Given the description of an element on the screen output the (x, y) to click on. 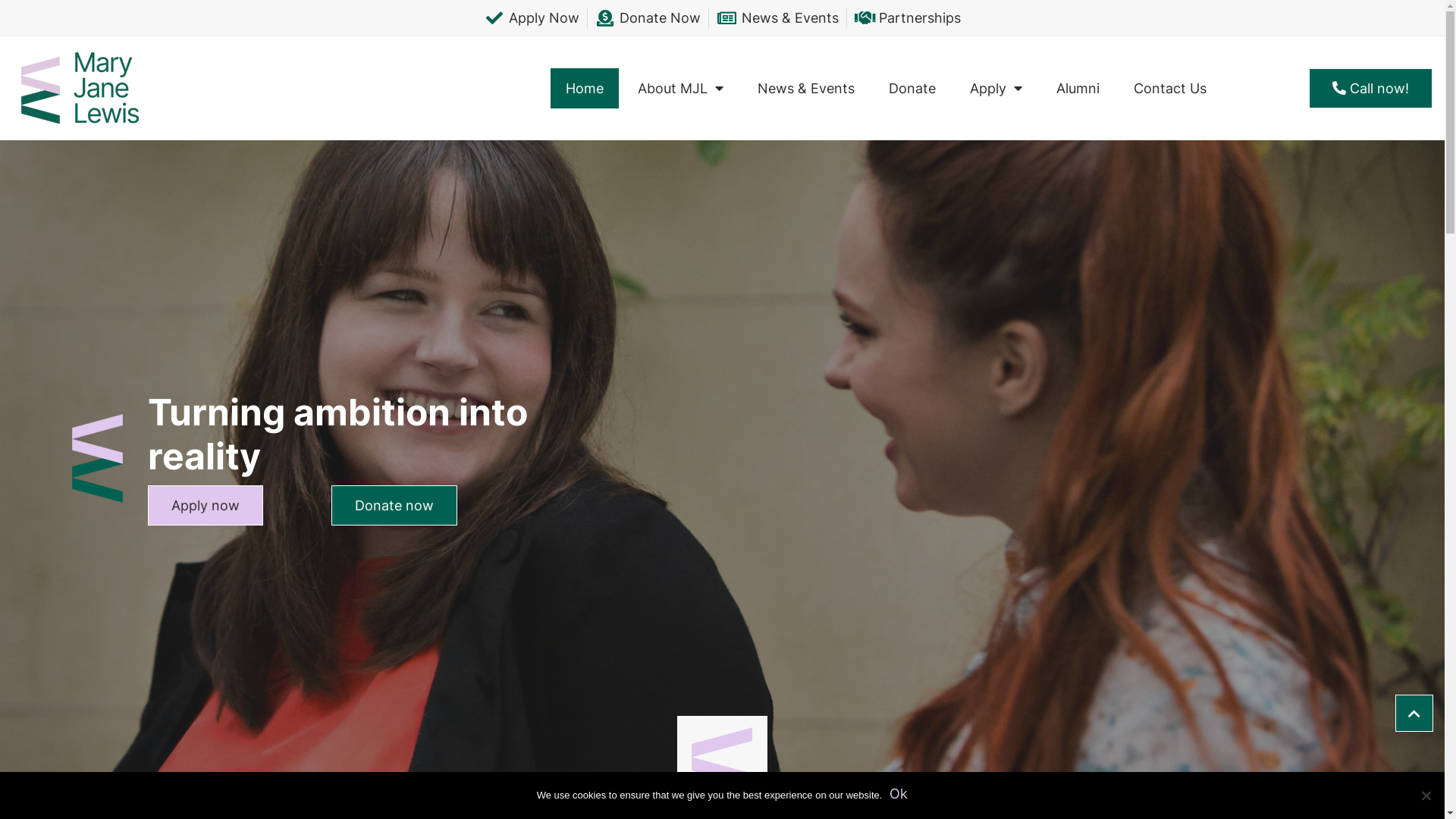
Ok Element type: text (898, 793)
Partnerships Element type: text (906, 17)
Donate now Element type: text (394, 505)
News & Events Element type: text (777, 17)
Contact Us Element type: text (1169, 88)
Donate Now Element type: text (647, 17)
Apply Element type: text (995, 88)
News & Events Element type: text (805, 88)
Apply Now Element type: text (531, 17)
Call now! Element type: text (1370, 88)
Home Element type: text (584, 88)
Apply now Element type: text (205, 505)
Alumni Element type: text (1077, 88)
About MJL Element type: text (680, 88)
Donate Element type: text (911, 88)
No Element type: hover (1425, 795)
